Given the description of an element on the screen output the (x, y) to click on. 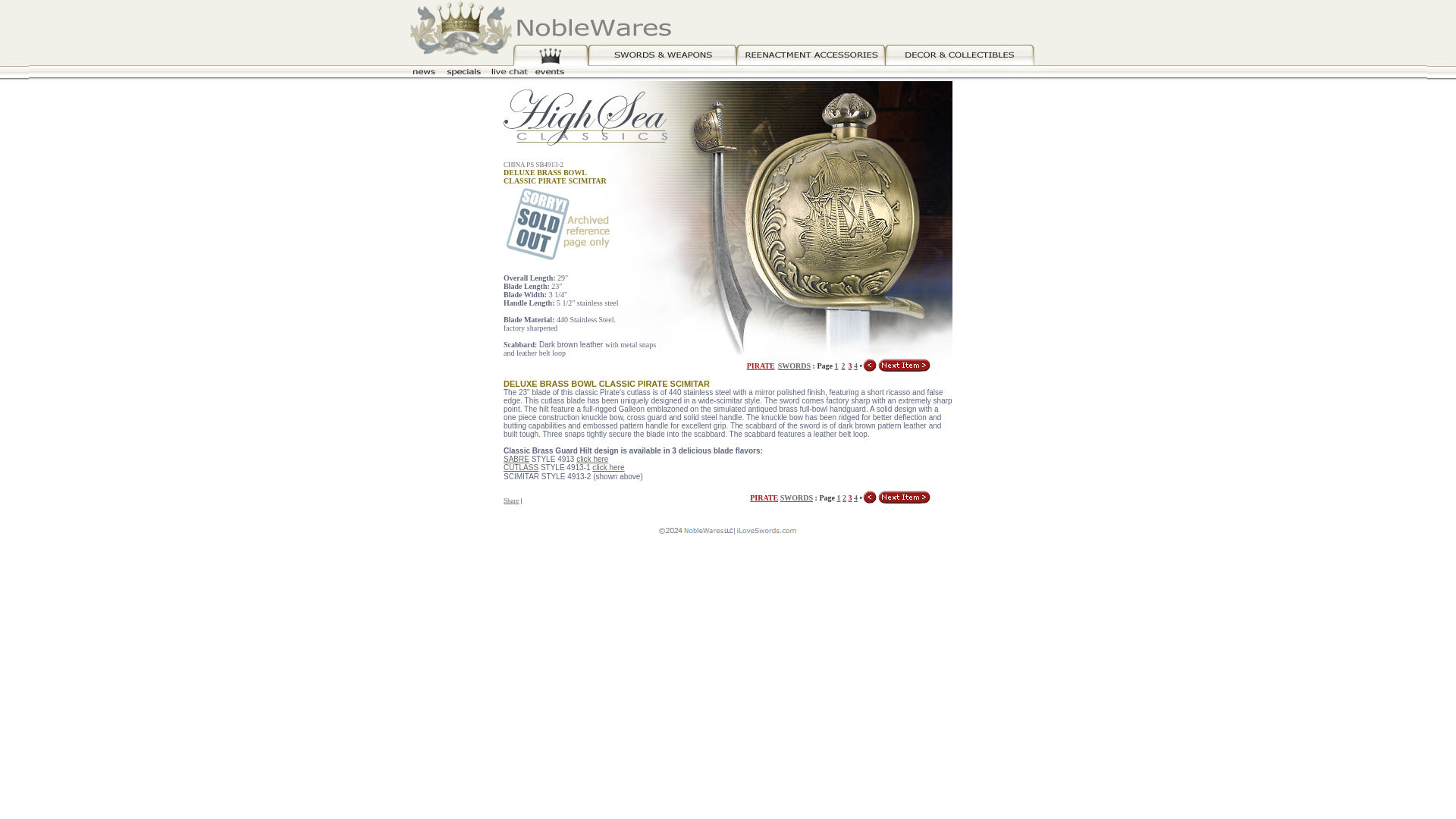
CUTLASS (520, 467)
PIRATE (760, 364)
PIRATE (763, 497)
SWORDS (796, 497)
click here (608, 467)
SWORDS (793, 365)
SABRE (516, 459)
click here (592, 459)
Share (511, 499)
